Given the description of an element on the screen output the (x, y) to click on. 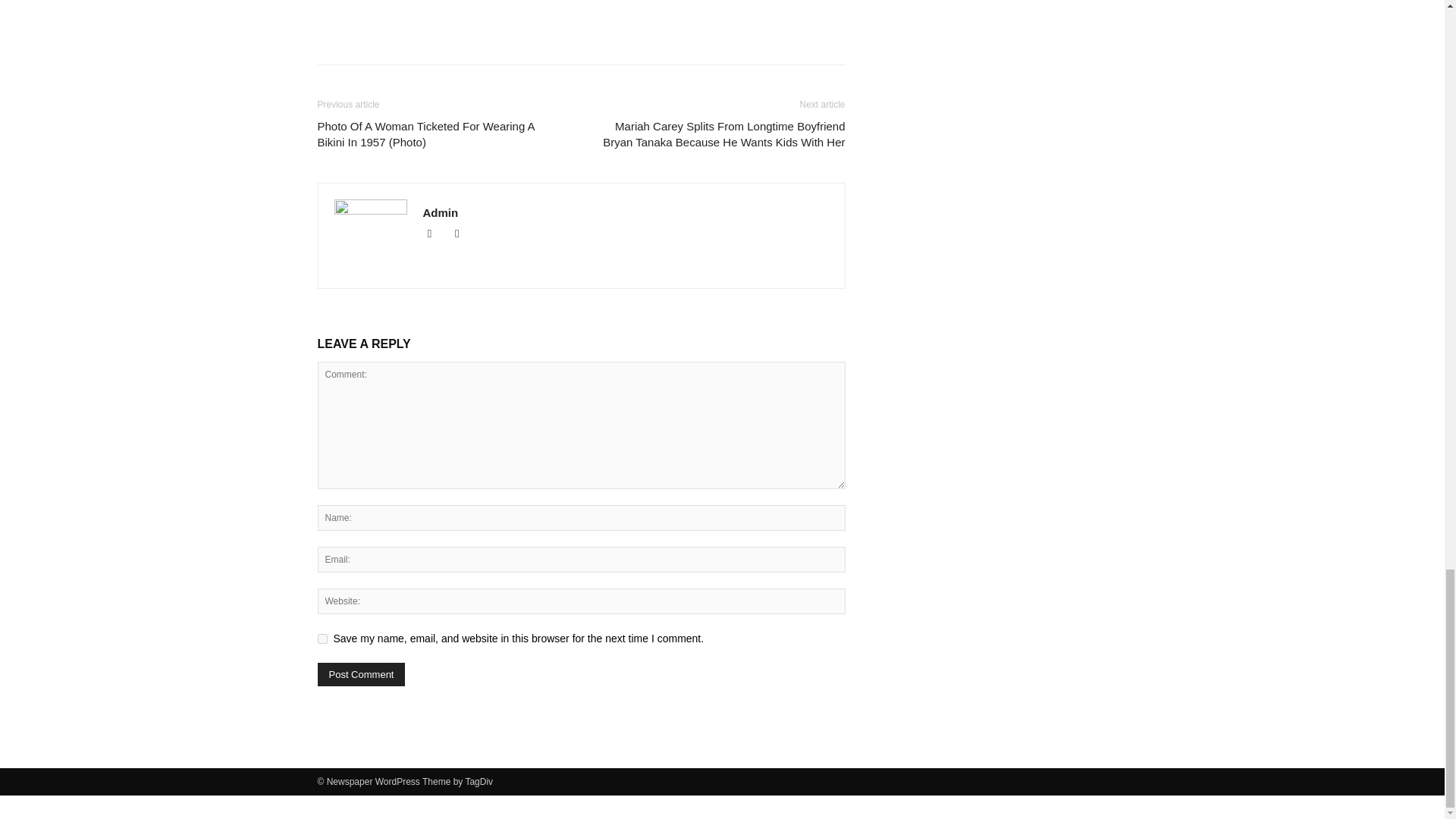
Twitter (462, 234)
yes (321, 637)
Post Comment (360, 673)
Facebook (436, 234)
